Given the description of an element on the screen output the (x, y) to click on. 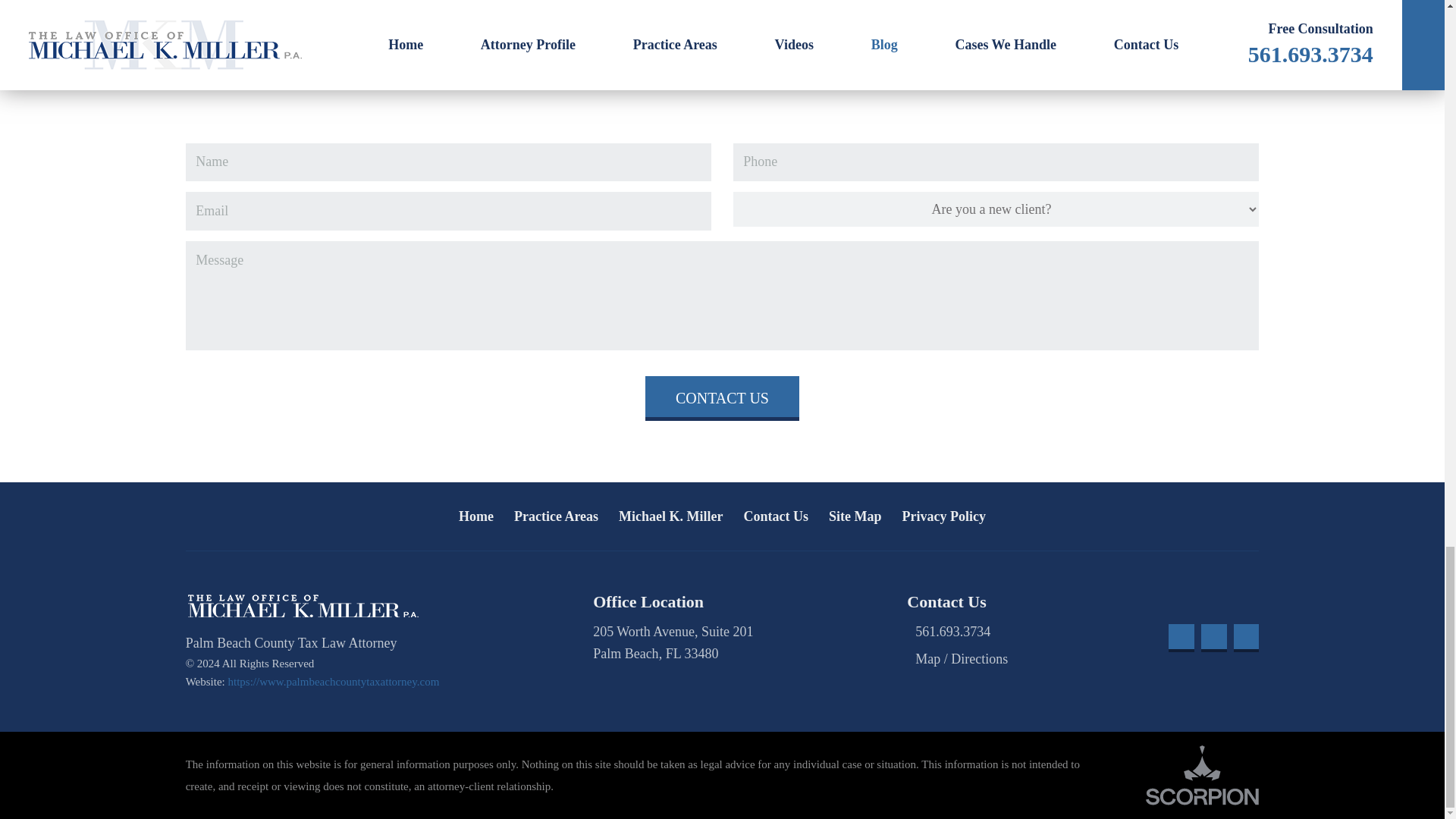
Scorpion Legal Internet Marketing (1202, 775)
The Law Office of Michael K. Miller, P.A. (304, 606)
